Given the description of an element on the screen output the (x, y) to click on. 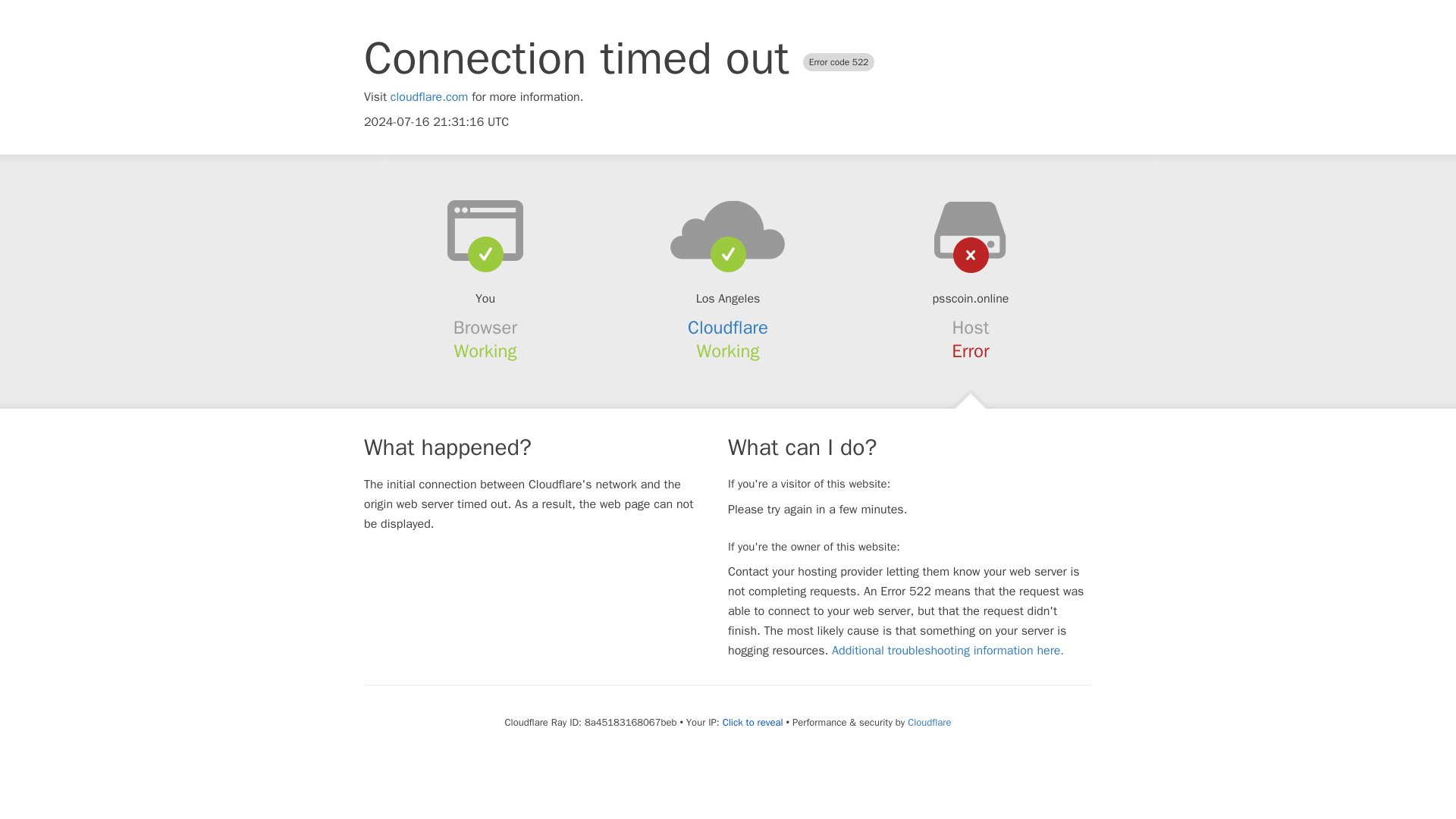
Cloudflare (928, 721)
Click to reveal (752, 722)
cloudflare.com (429, 96)
Additional troubleshooting information here. (947, 650)
Cloudflare (727, 327)
